Given the description of an element on the screen output the (x, y) to click on. 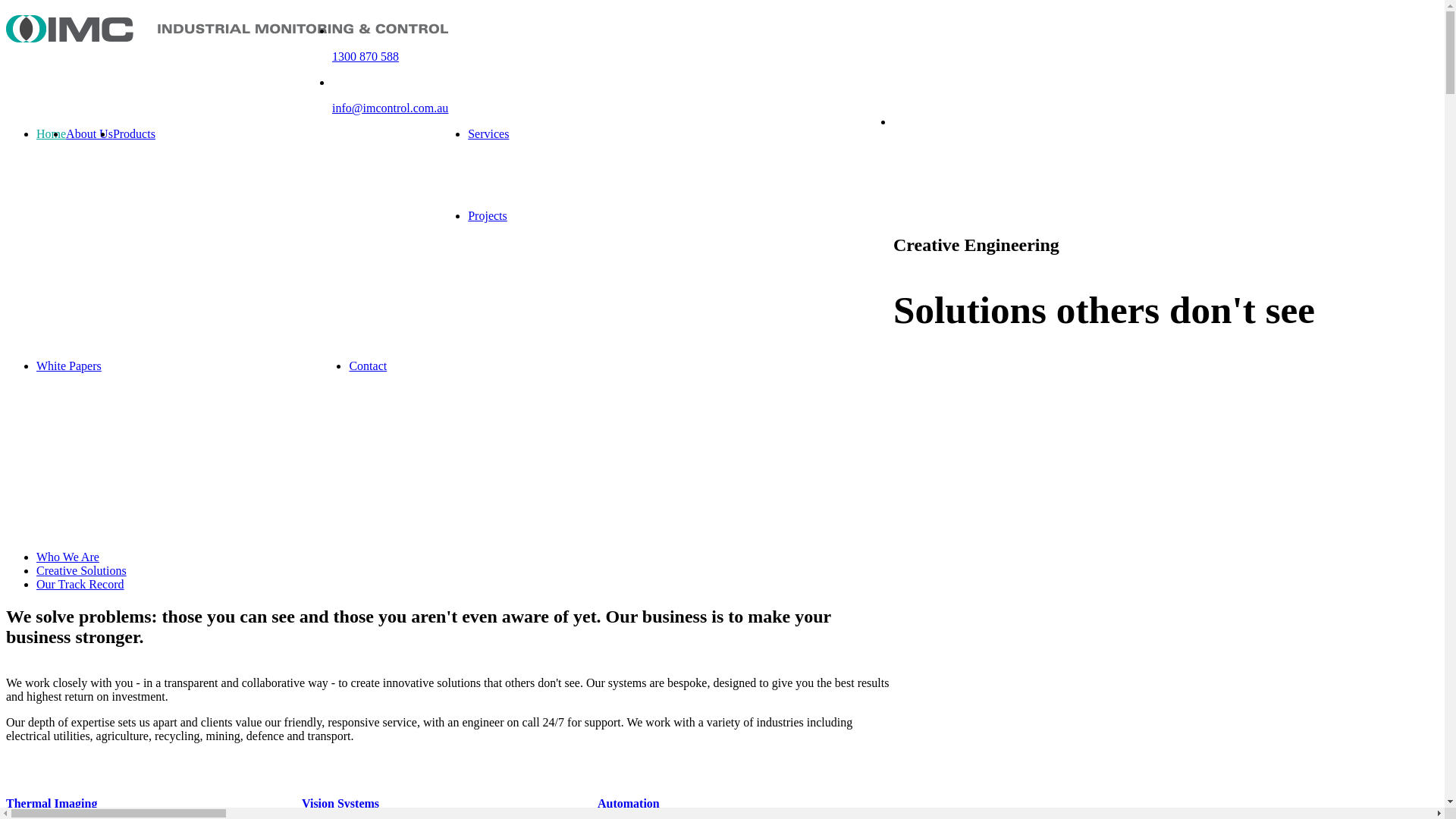
Our Track Record Element type: text (80, 583)
Automation Element type: text (745, 803)
info@imcontrol.com.au Element type: text (390, 107)
Thermal Imaging Element type: text (153, 803)
Who We Are Element type: text (67, 556)
Creative Solutions Element type: text (81, 570)
Services Element type: text (487, 133)
1300 870 588 Element type: text (365, 56)
Vision Systems Element type: text (449, 803)
Projects Element type: text (487, 215)
Home Element type: text (50, 133)
Contact Element type: text (367, 365)
Products Element type: text (133, 133)
White Papers Element type: text (68, 365)
About Us Element type: text (88, 133)
